Given the description of an element on the screen output the (x, y) to click on. 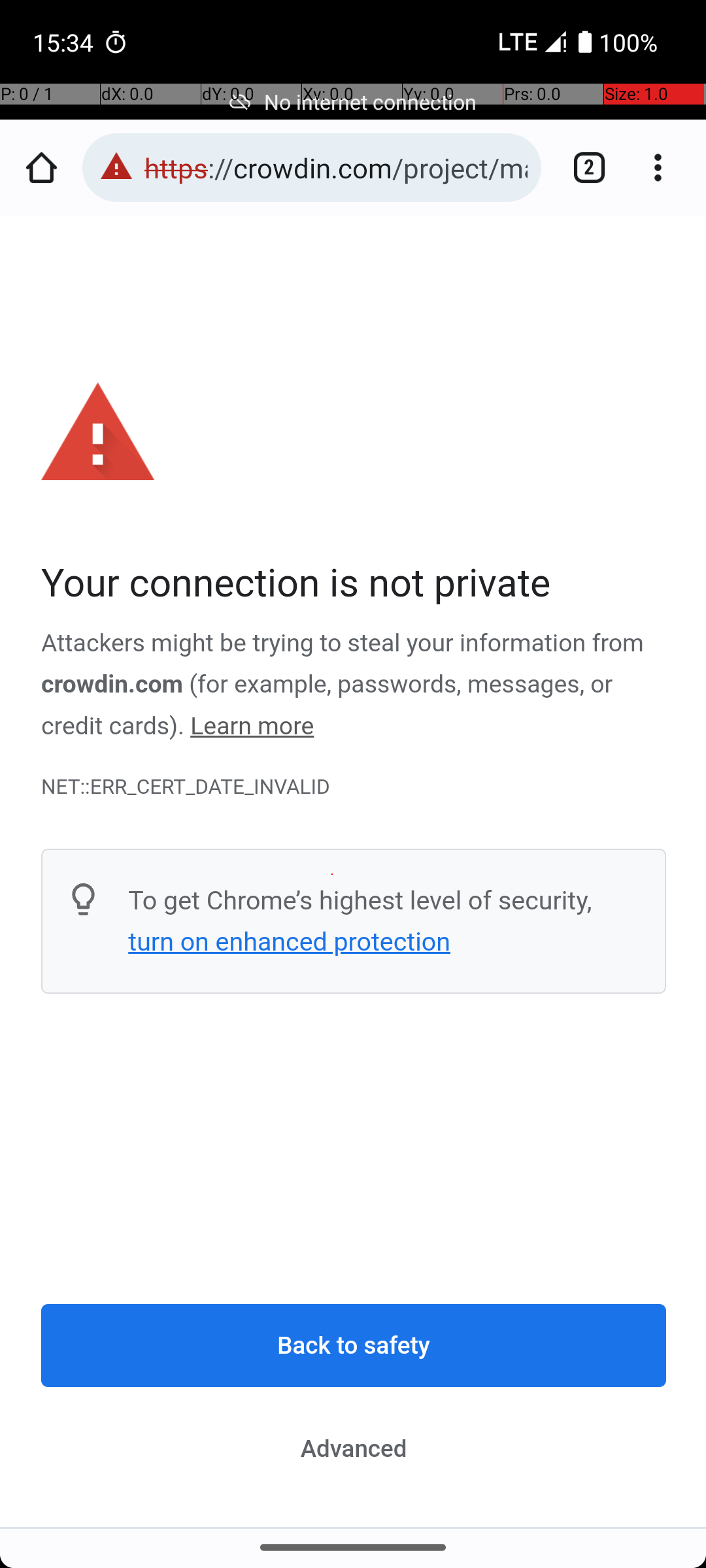
https://crowdin.com/project/markor/invite Element type: android.widget.EditText (335, 167)
crowdin.com Element type: android.widget.TextView (112, 684)
To get Chrome’s highest level of security,  Element type: android.widget.TextView (359, 899)
turn on enhanced protection Element type: android.view.View (288, 941)
